Given the description of an element on the screen output the (x, y) to click on. 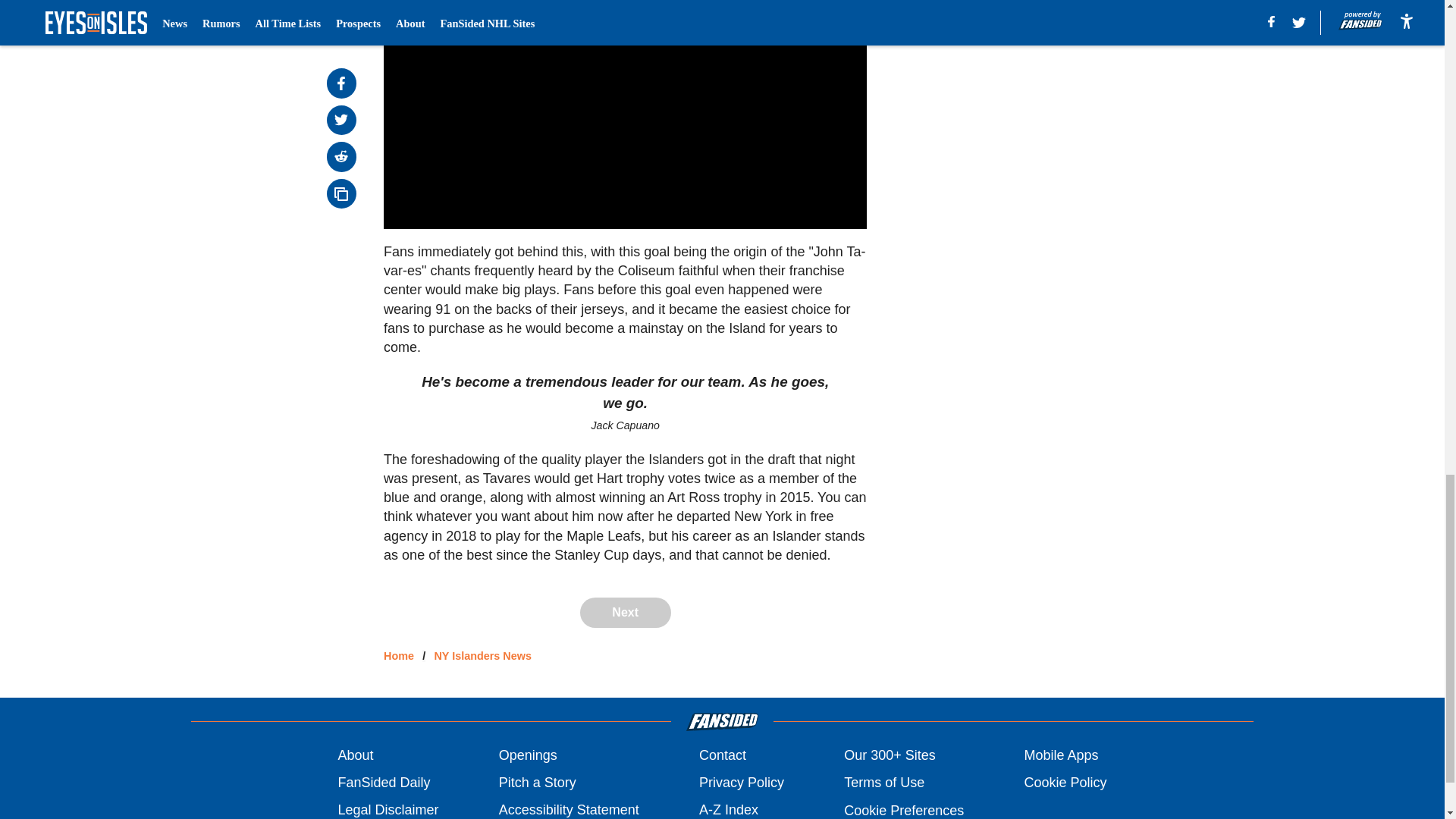
Next (625, 612)
